Given the description of an element on the screen output the (x, y) to click on. 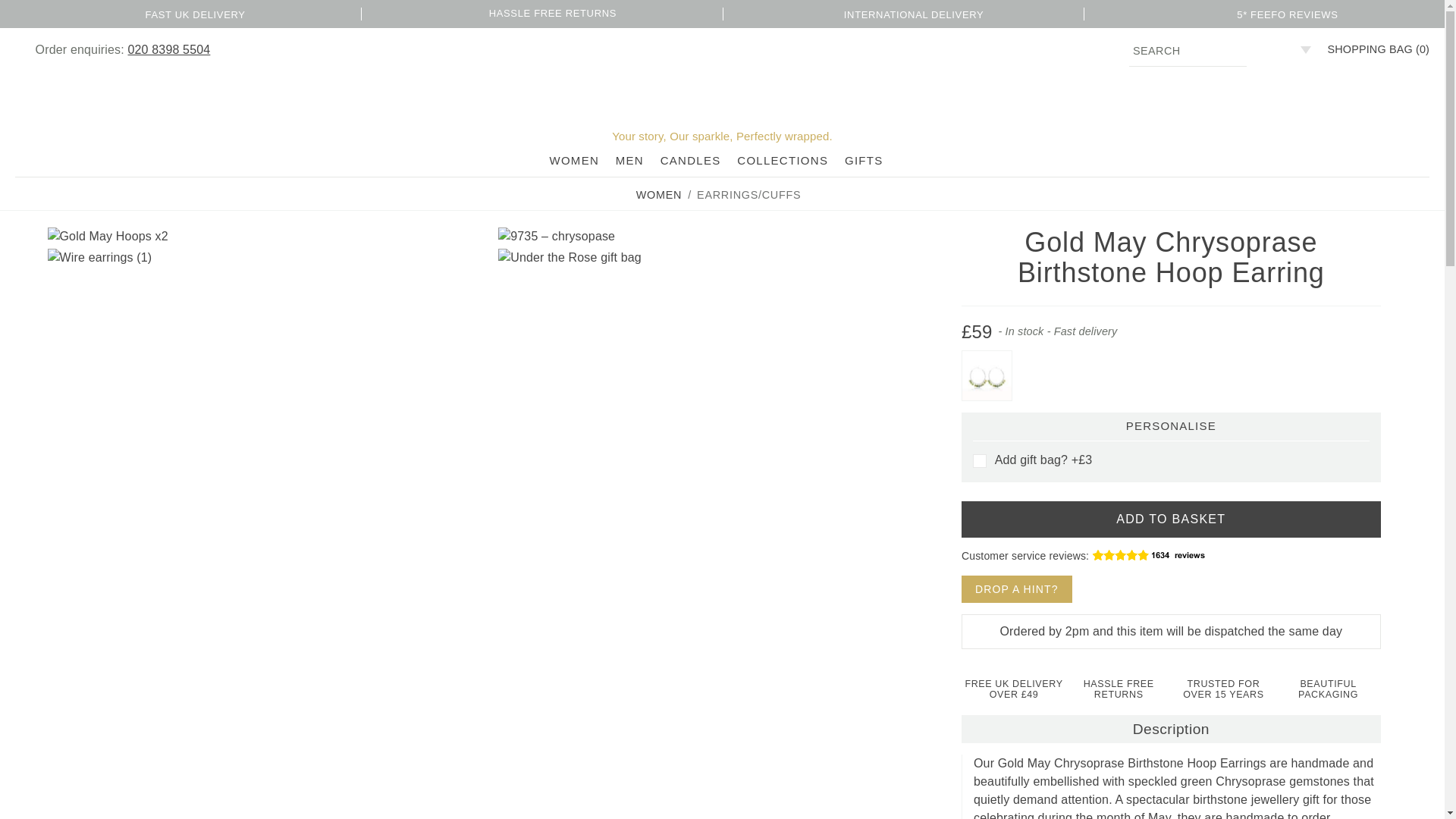
WOMEN (573, 160)
See what our customers say about us (1167, 554)
DROP A HINT? (1015, 588)
WOMEN (658, 194)
COLLECTIONS (782, 160)
ADD TO BASKET (1170, 519)
Search (1187, 51)
MEN (629, 160)
Under the Rose - Personalised Jewellery (721, 82)
CANDLES (690, 160)
